Given the description of an element on the screen output the (x, y) to click on. 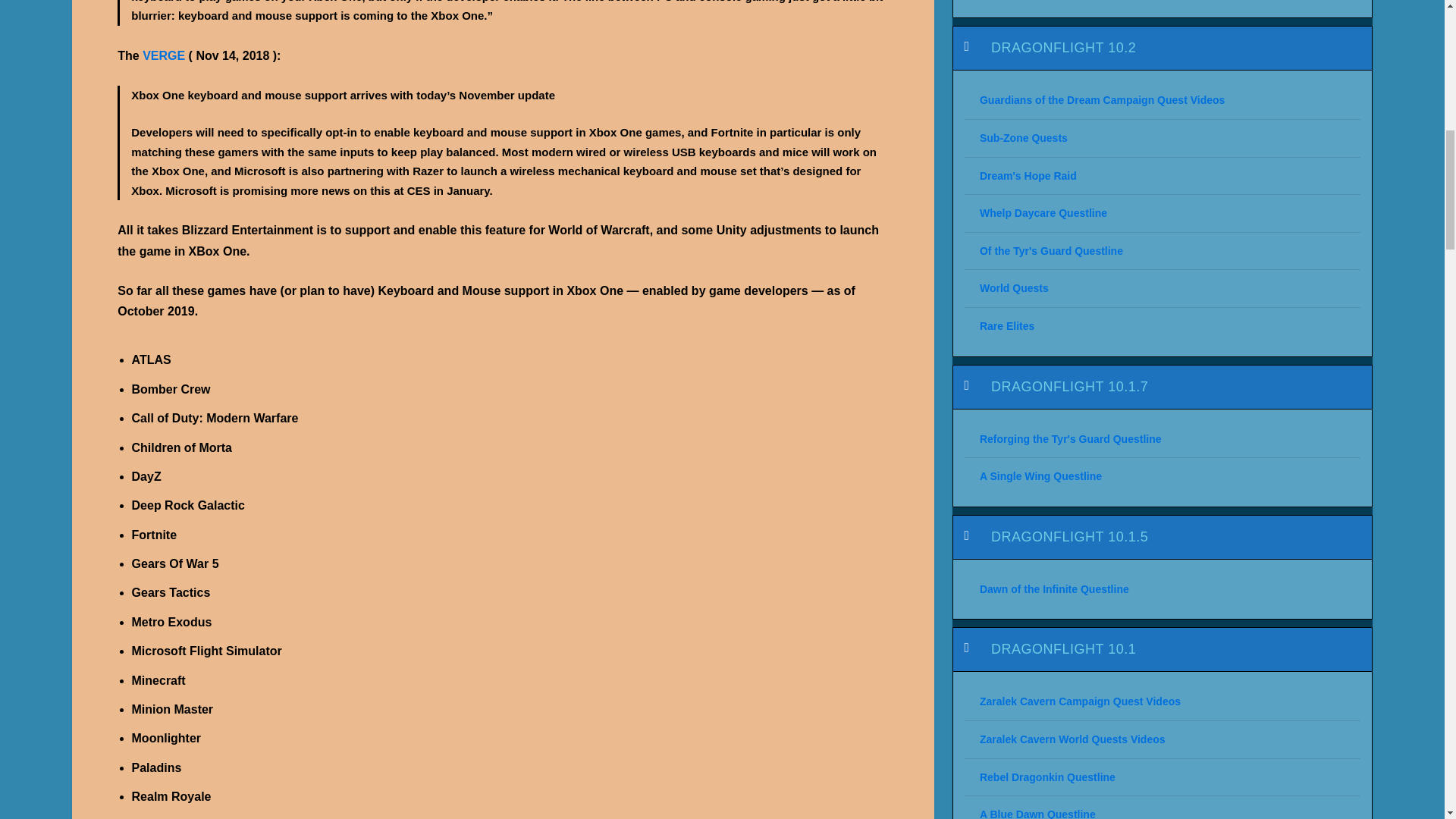
VERGE (163, 55)
